Given the description of an element on the screen output the (x, y) to click on. 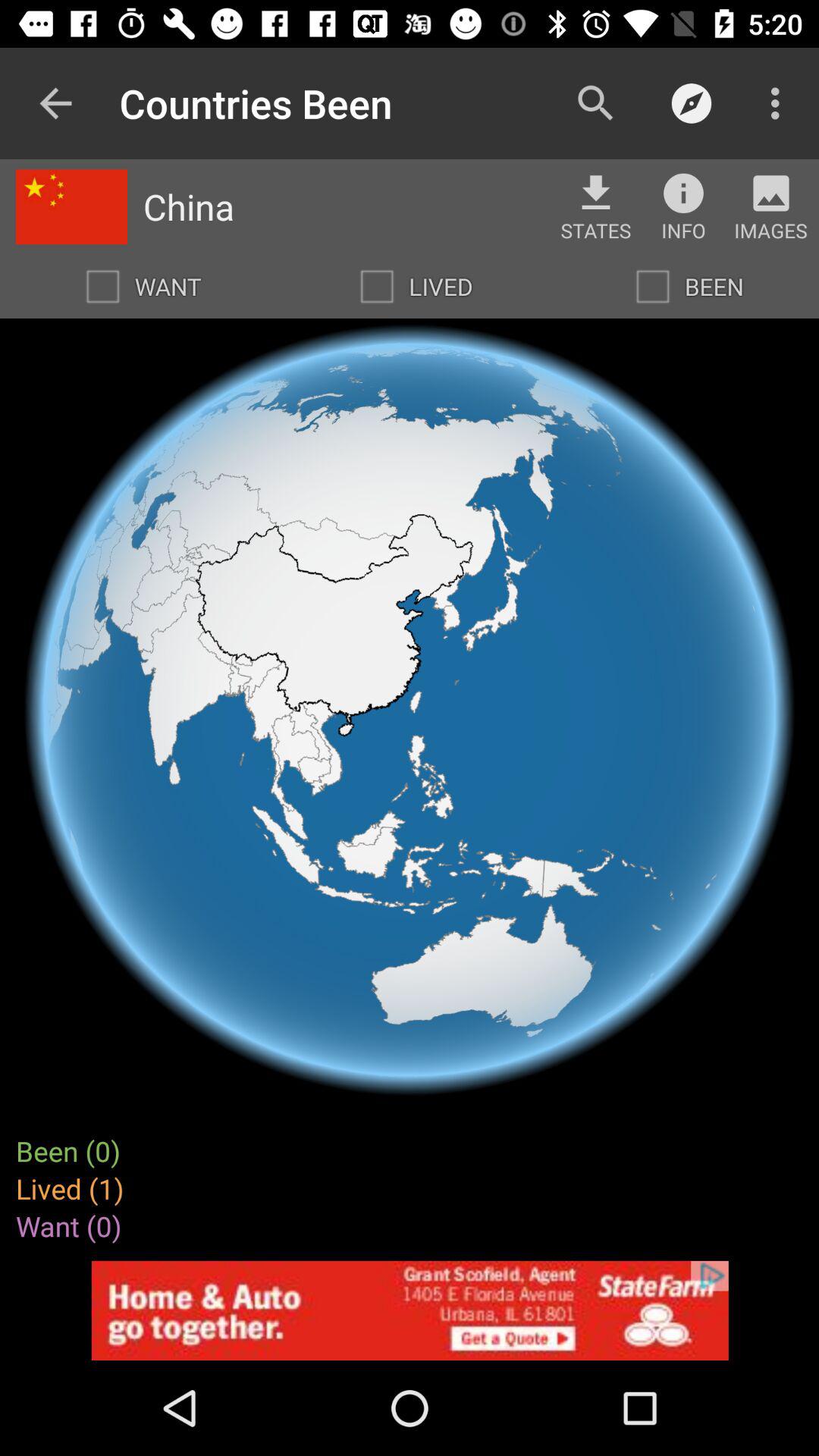
view gallery (771, 193)
